Given the description of an element on the screen output the (x, y) to click on. 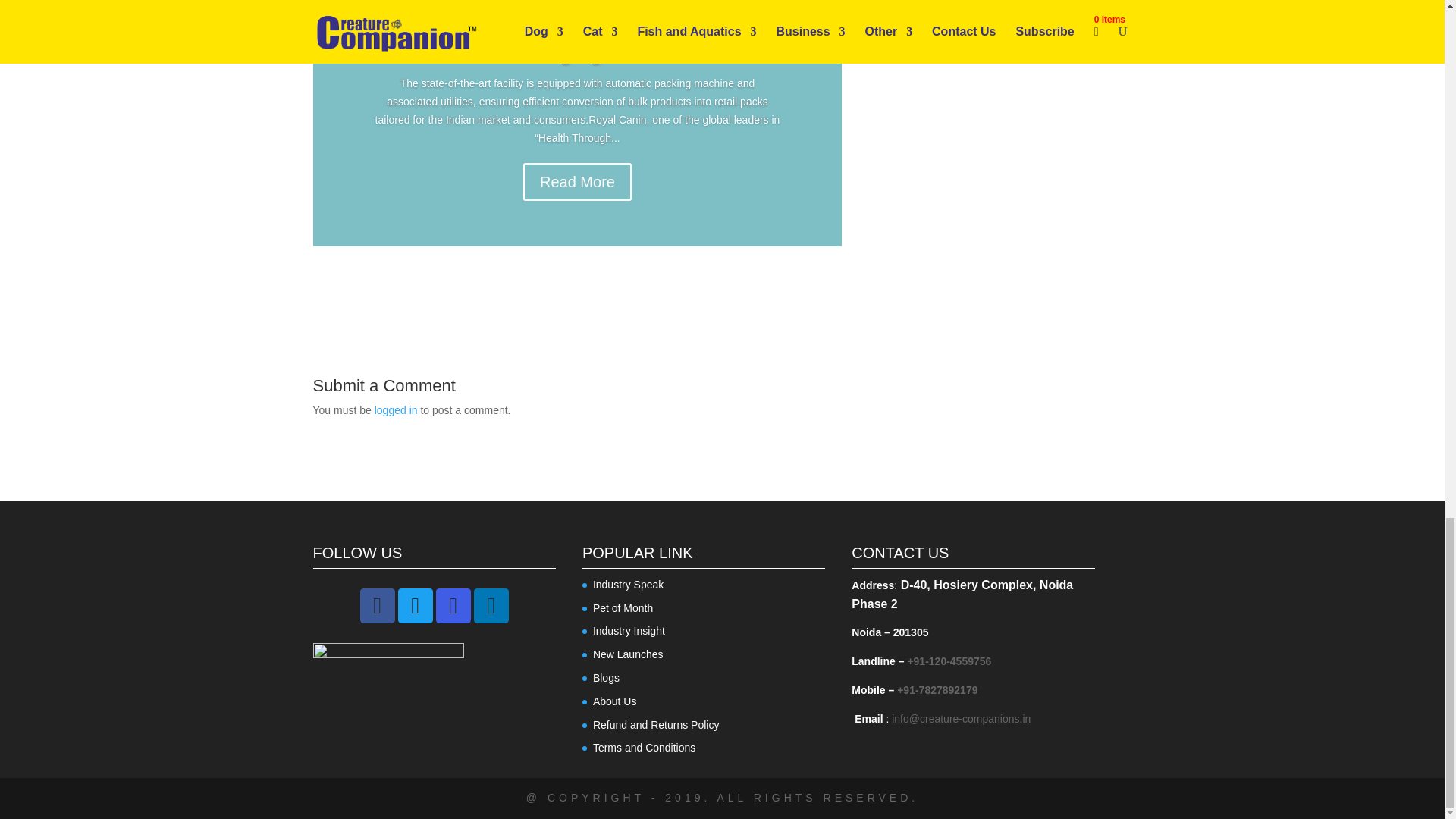
Instagram (452, 605)
Facebook (376, 605)
Twitter (414, 605)
